Given the description of an element on the screen output the (x, y) to click on. 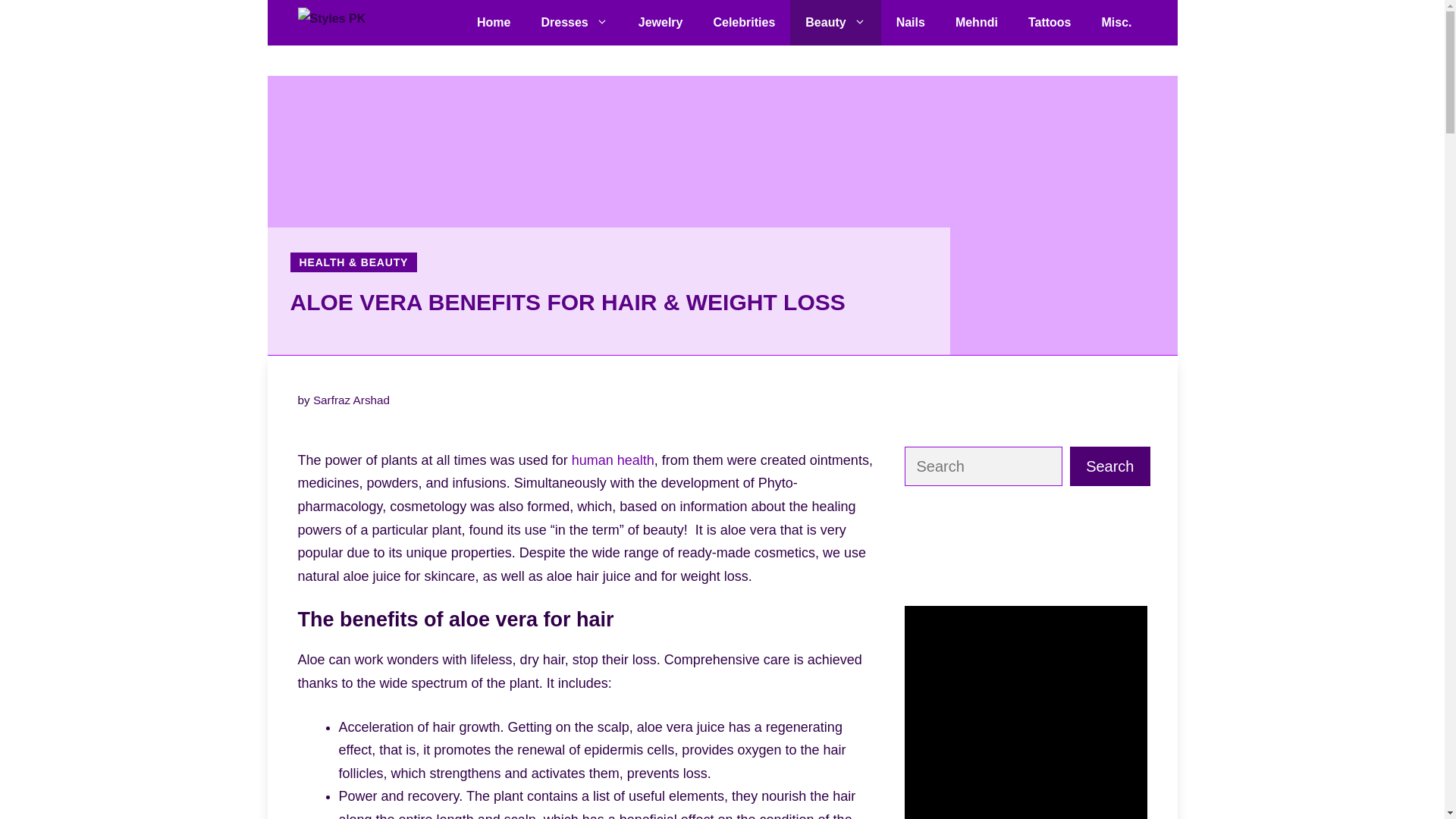
Mehndi (976, 22)
human health (612, 459)
View all posts by Sarfraz Arshad (351, 399)
Home (493, 22)
Celebrities (743, 22)
Nails (910, 22)
Jewelry (660, 22)
Misc. (1116, 22)
Tattoos (1049, 22)
Styles PK (358, 22)
